Given the description of an element on the screen output the (x, y) to click on. 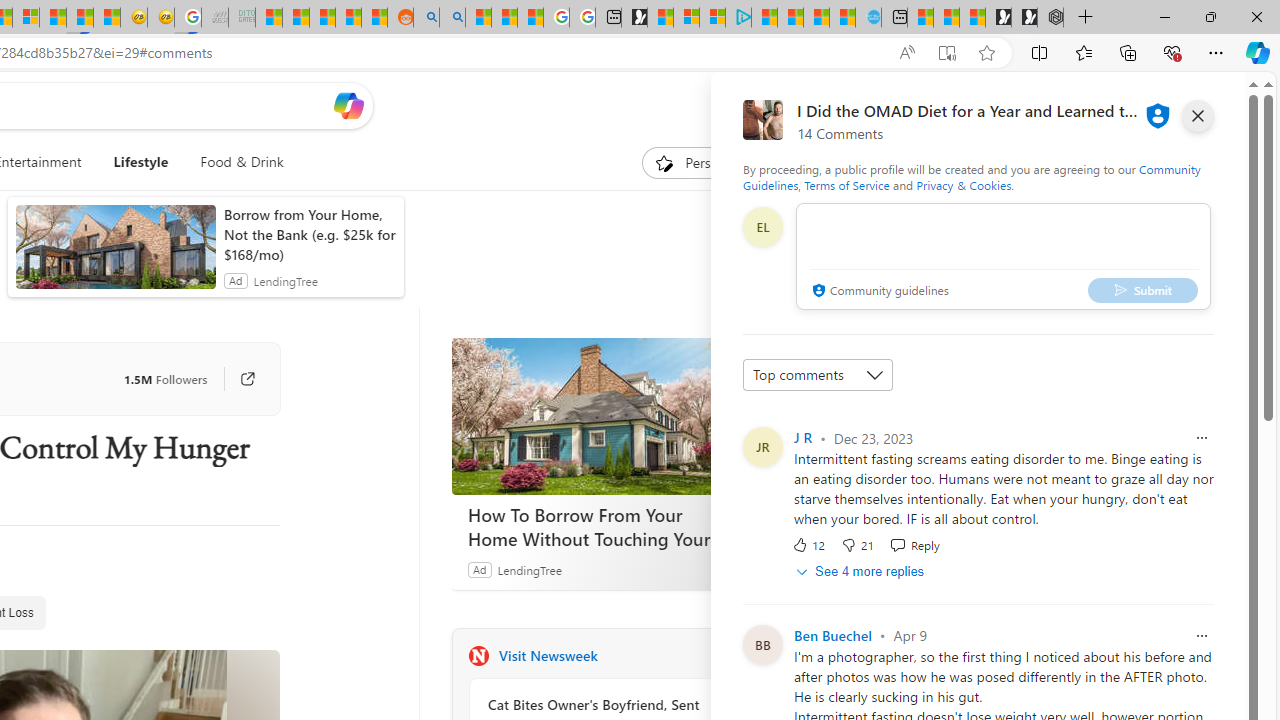
Profile Picture (762, 644)
12 Like (808, 544)
Visit Newsweek website (726, 655)
Utah sues federal government - Search (452, 17)
